Given the description of an element on the screen output the (x, y) to click on. 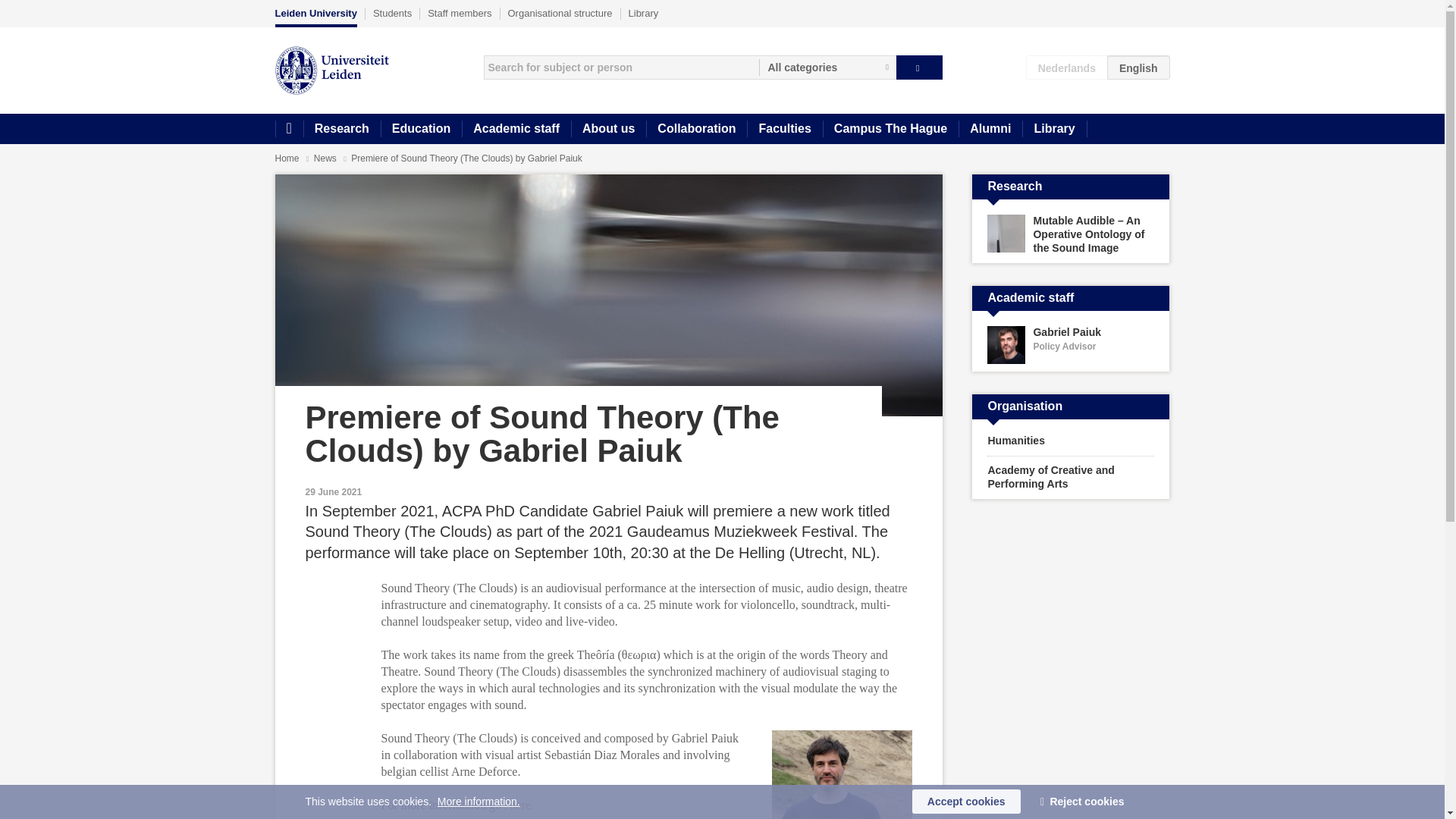
Library (1054, 128)
Campus The Hague (890, 128)
Faculties (784, 128)
Leiden University (315, 17)
Library (643, 13)
Staff members (460, 13)
Home (288, 128)
News (326, 158)
Students (392, 13)
Academic staff (515, 128)
Education (420, 128)
Alumni (990, 128)
Collaboration (696, 128)
Home (286, 158)
Search (919, 67)
